Given the description of an element on the screen output the (x, y) to click on. 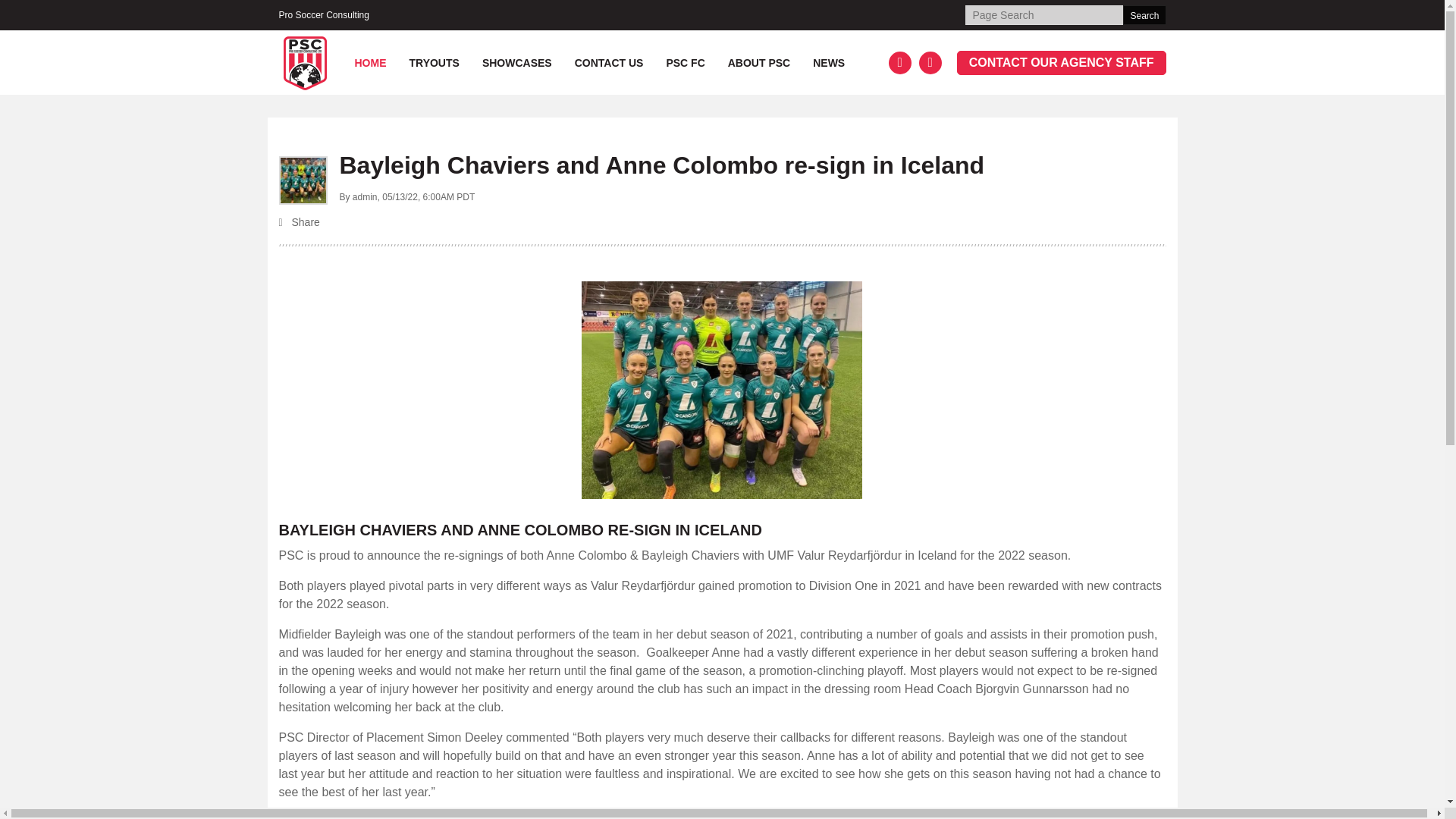
PSC FC (684, 63)
CONTACT US (609, 63)
SHOWCASES (516, 63)
Share (722, 223)
TRYOUTS (433, 63)
click to go to 'Contact Us' (609, 63)
click to go to 'PSC FC ' (684, 63)
click to go to 'European Showcase Tours' (516, 63)
Instagram (930, 62)
click to go to 'Pro Soccer Tryouts' (433, 63)
